Given the description of an element on the screen output the (x, y) to click on. 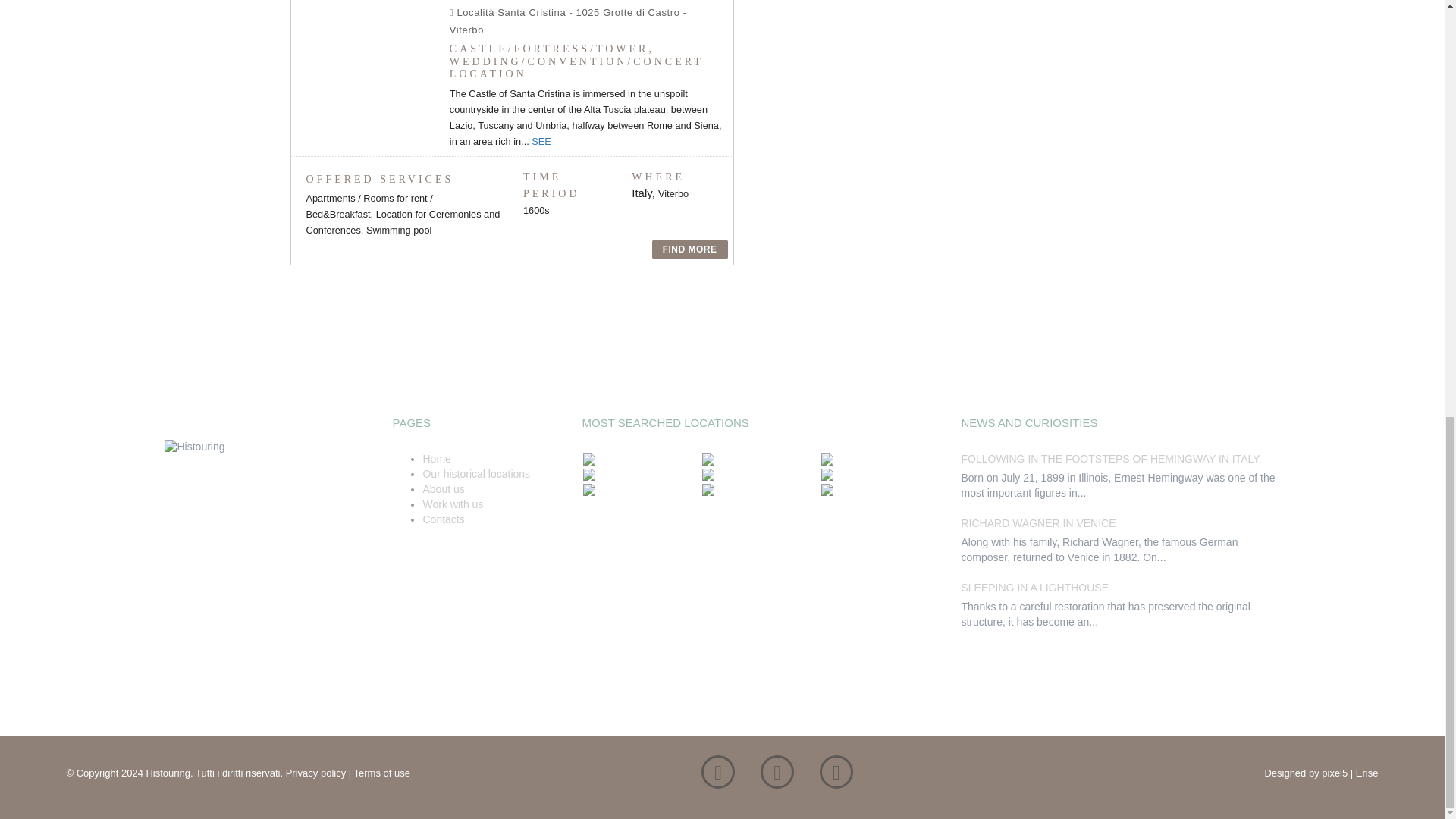
Home (435, 458)
SLEEPING IN A LIGHTHOUSE (1034, 587)
Privacy policy (315, 772)
Contacts (443, 519)
About us (443, 489)
Vai su Amazon (836, 775)
Our historical locations (475, 473)
Work with us (452, 503)
SEE (541, 141)
FOLLOWING IN THE FOOTSTEPS OF HEMINGWAY IN ITALY. (1110, 458)
